Given the description of an element on the screen output the (x, y) to click on. 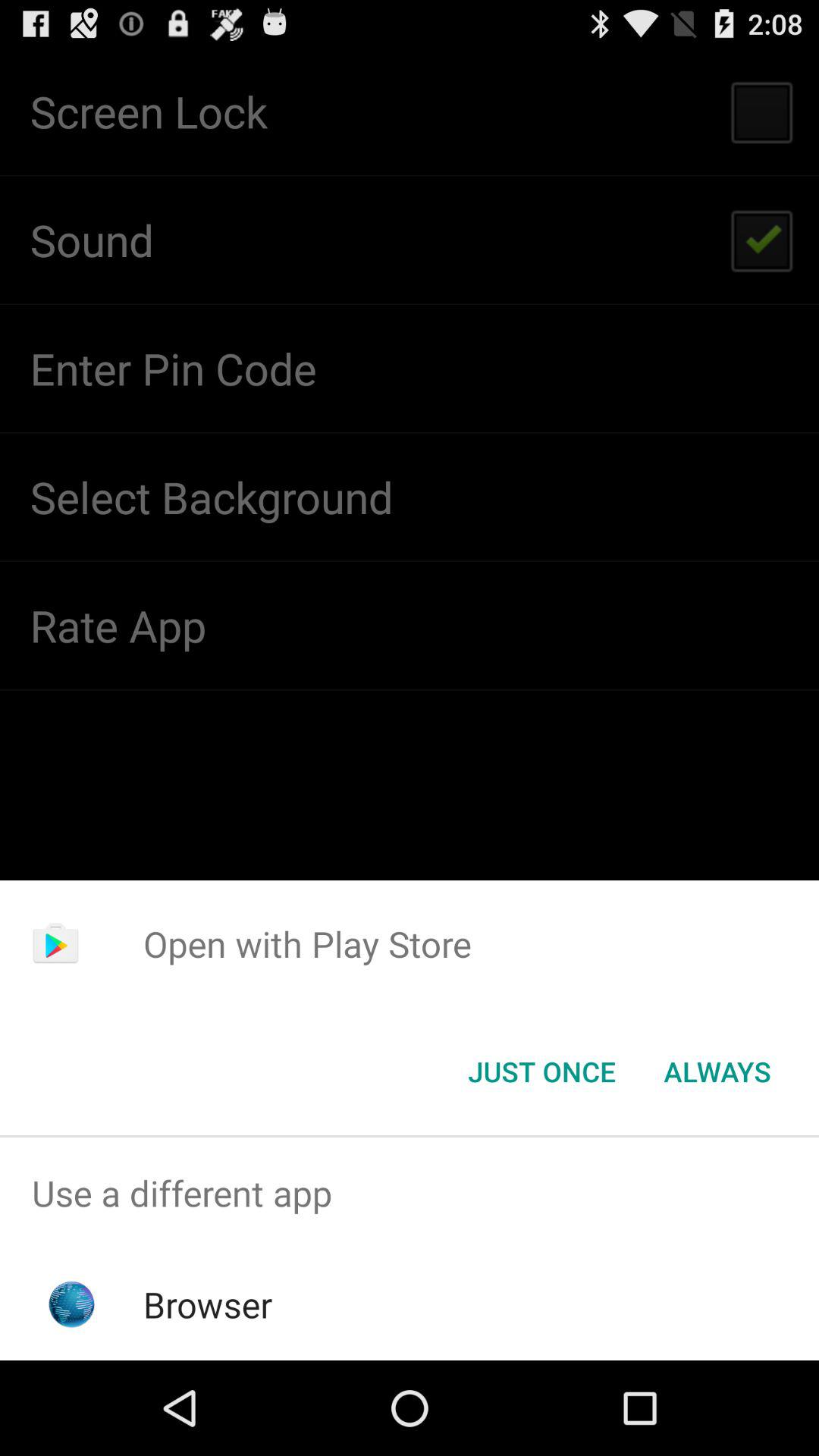
turn on the always button (717, 1071)
